Given the description of an element on the screen output the (x, y) to click on. 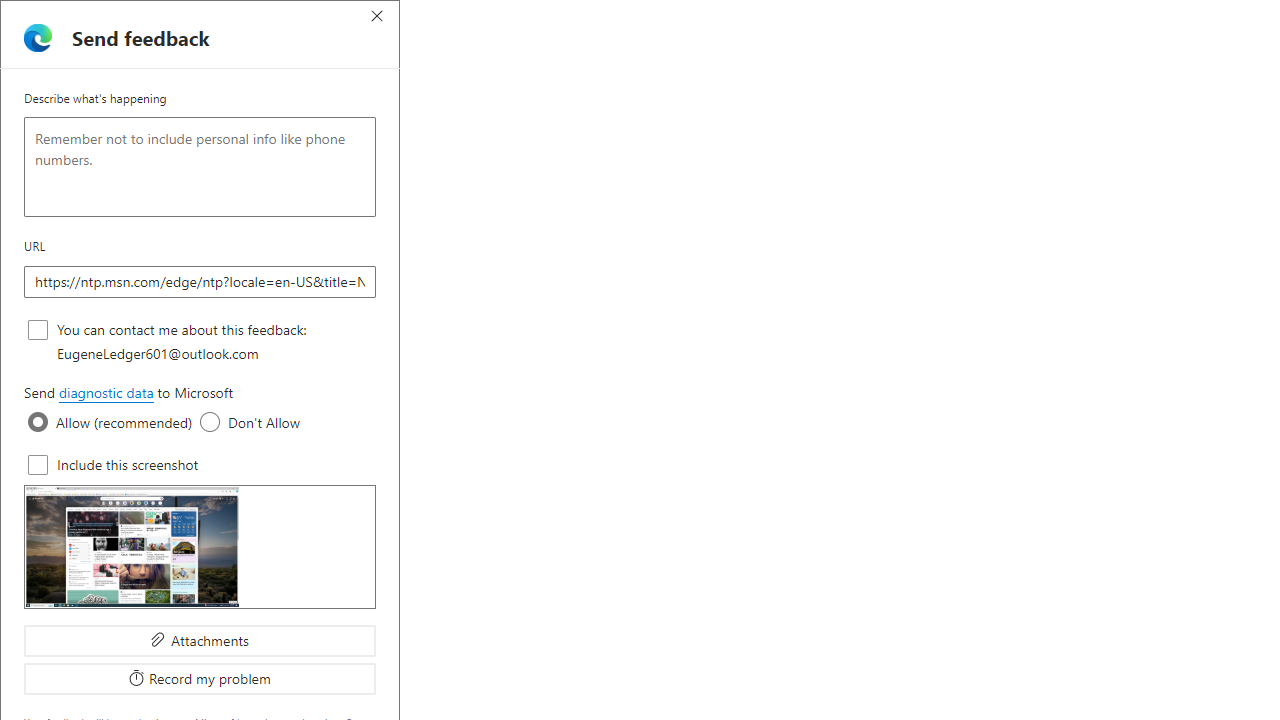
What's the best AI voice generator? - voice.ai - Sleeping (593, 17)
Streaming Coverage | T3 - Sleeping (742, 17)
Nordace - #1 Japanese Best-Seller - Siena Smart Backpack (482, 17)
Privacy Statement (1135, 96)
New tab (963, 17)
Personal data we collect (696, 650)
Refresh (72, 52)
Privacy report (904, 96)
X - Sleeping (926, 17)
Privacy settings (1014, 96)
Newsletter Sign Up (186, 17)
